Given the description of an element on the screen output the (x, y) to click on. 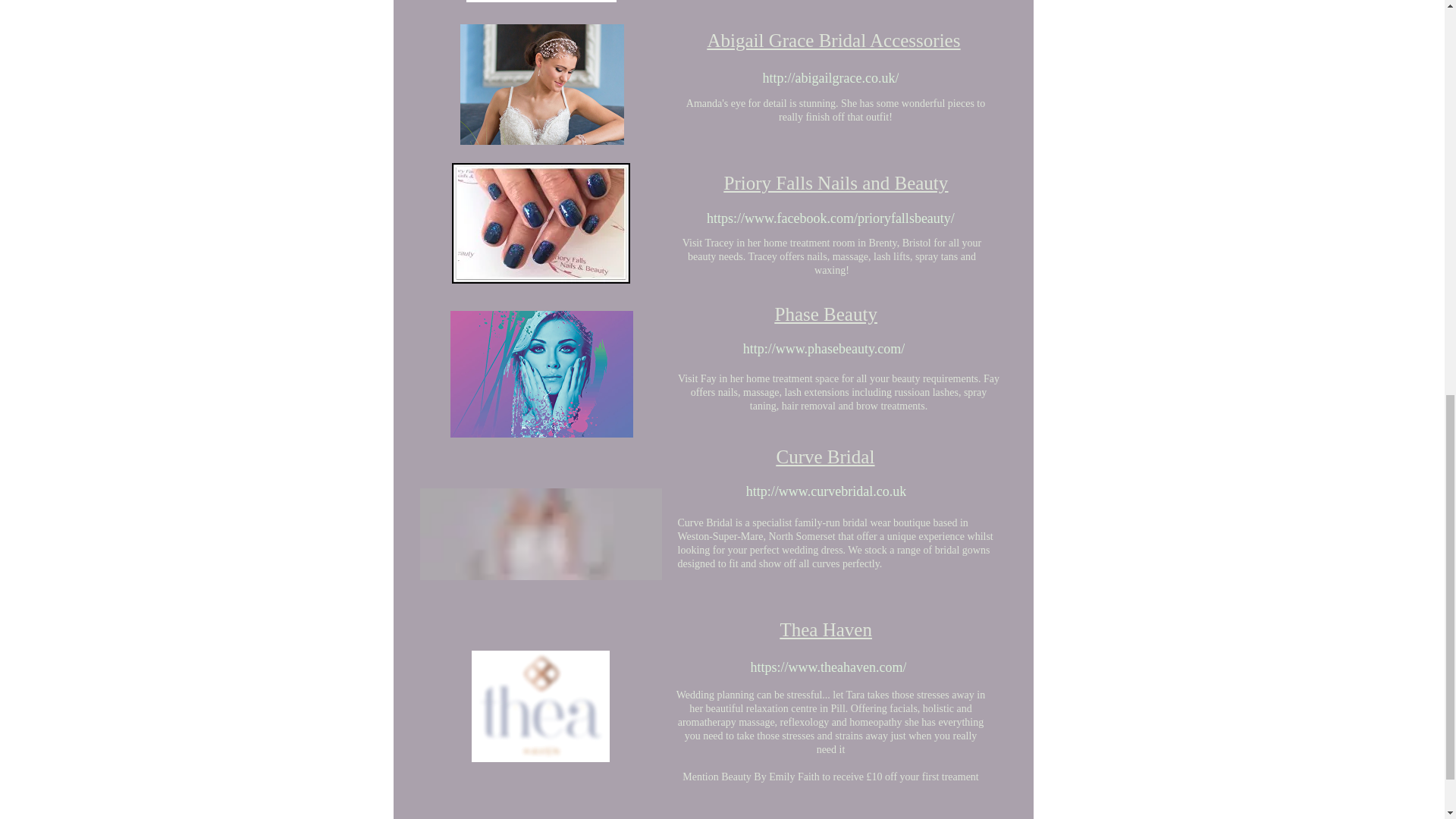
Thea Haven (824, 629)
Curve Bridal (825, 456)
Phase Beauty (825, 313)
Priory Falls Nails and Beauty (835, 182)
Abigail Grace Bridal Accessories (832, 40)
